Given the description of an element on the screen output the (x, y) to click on. 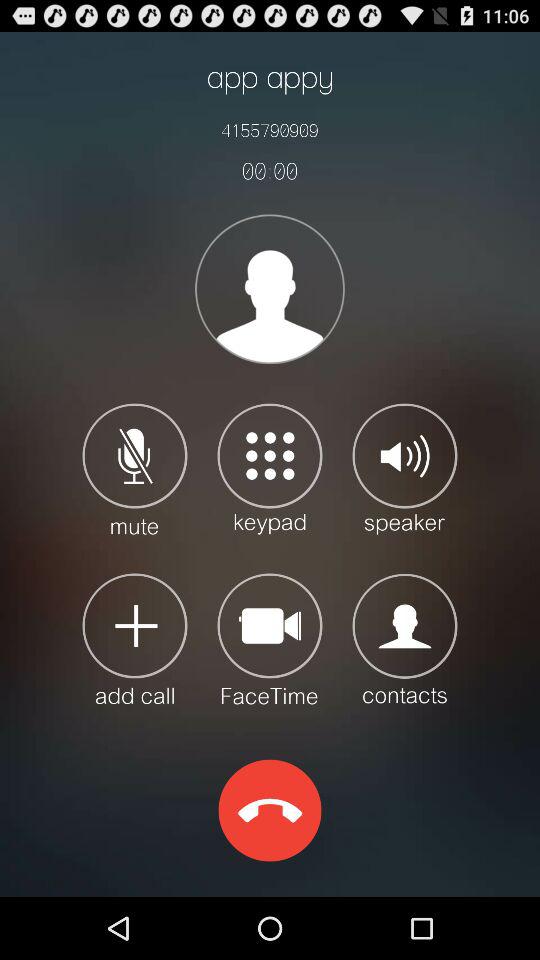
speaker on (404, 468)
